Given the description of an element on the screen output the (x, y) to click on. 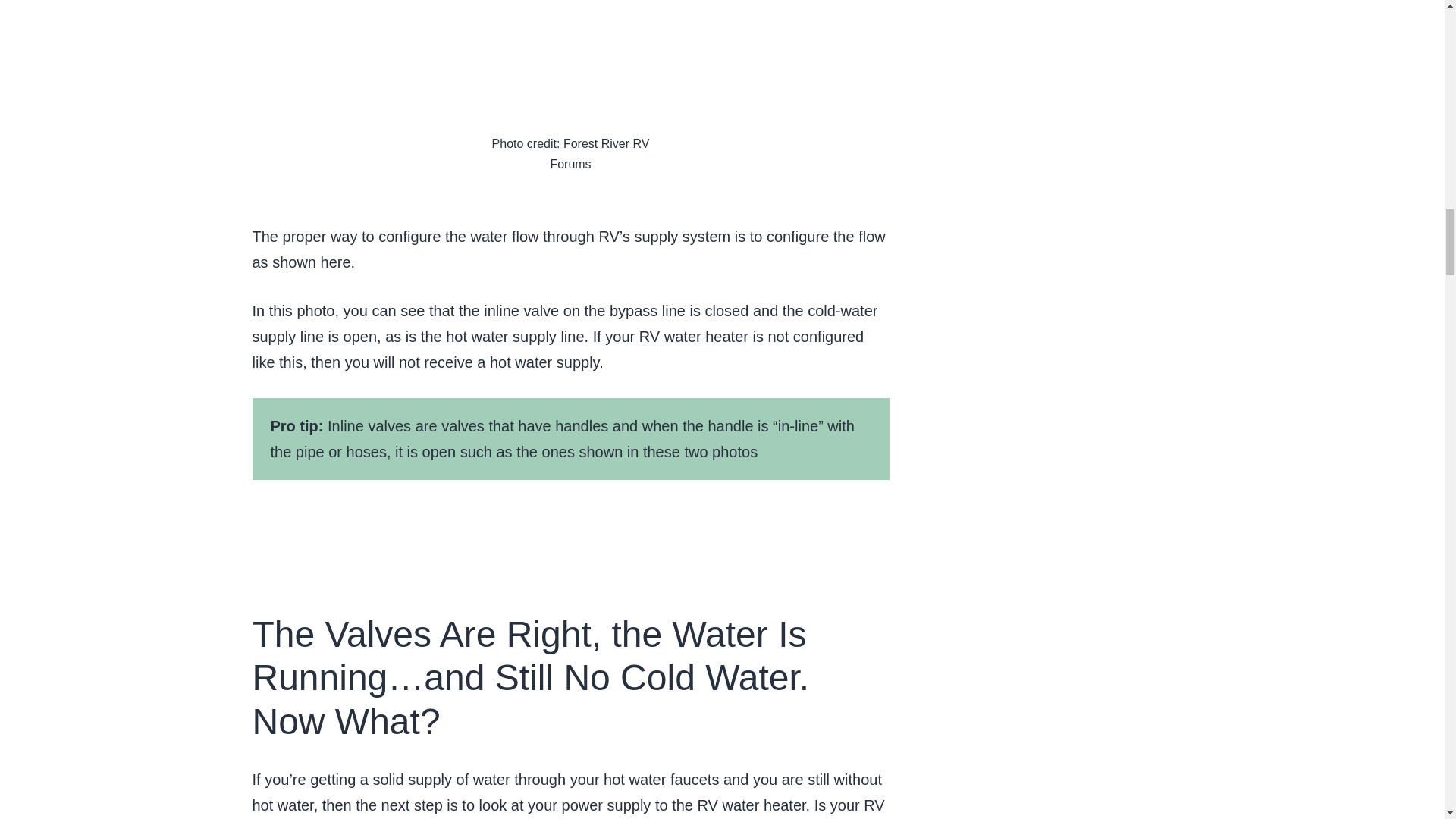
hoses (366, 451)
